Given the description of an element on the screen output the (x, y) to click on. 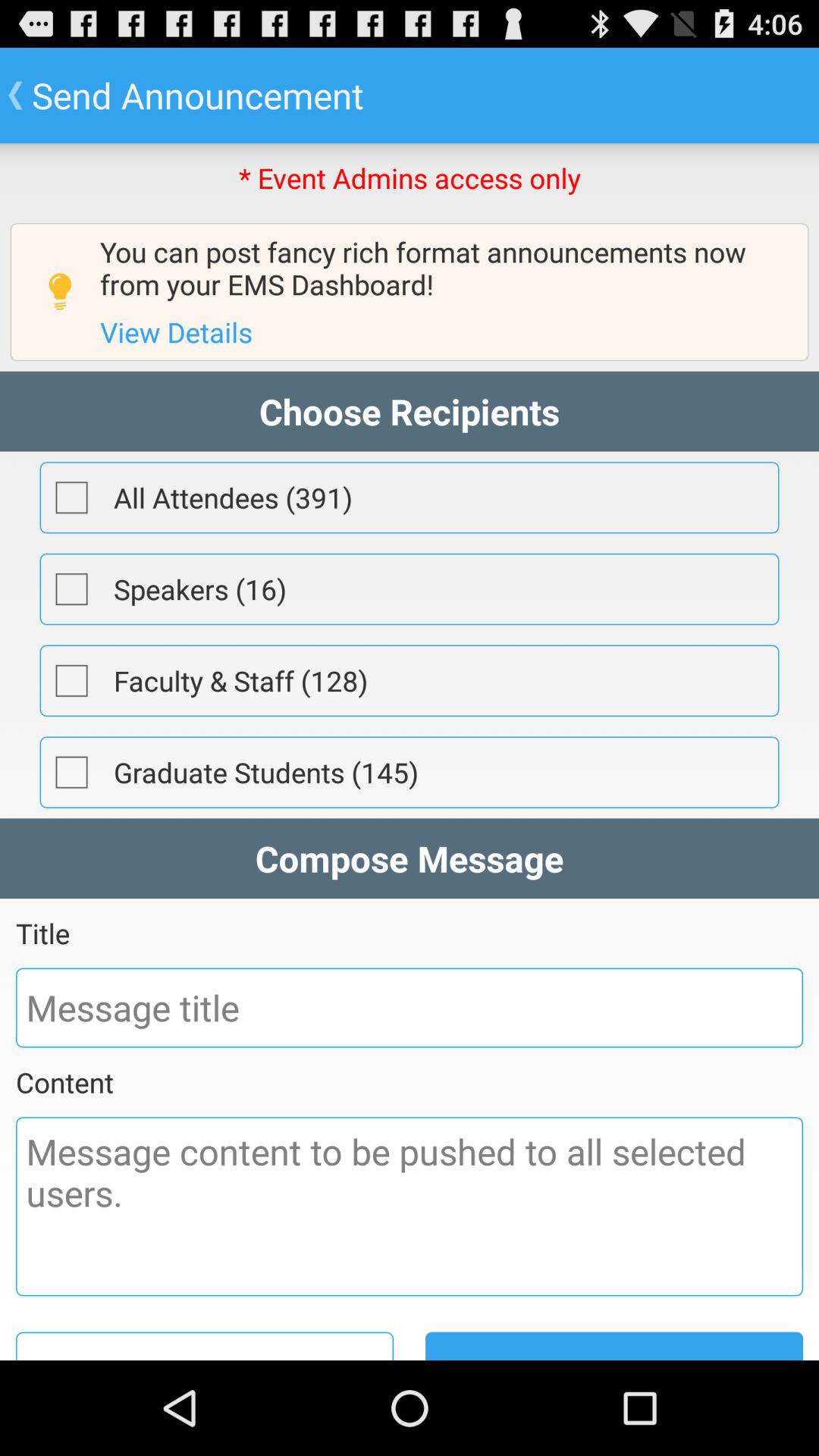
select option (71, 497)
